Given the description of an element on the screen output the (x, y) to click on. 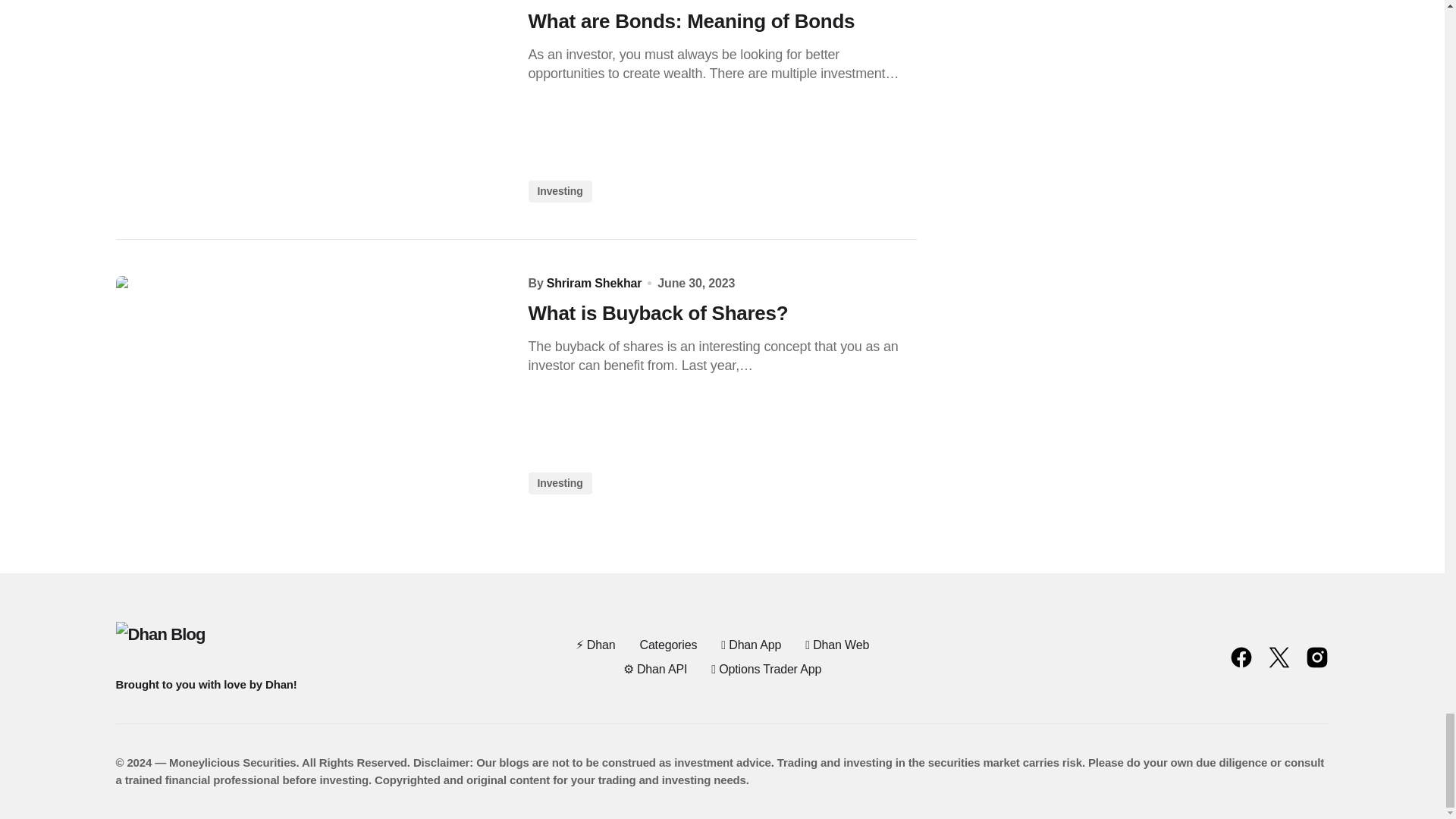
What is Buyback of Shares? (309, 385)
What are Bonds: Meaning of Bonds (309, 101)
